Given the description of an element on the screen output the (x, y) to click on. 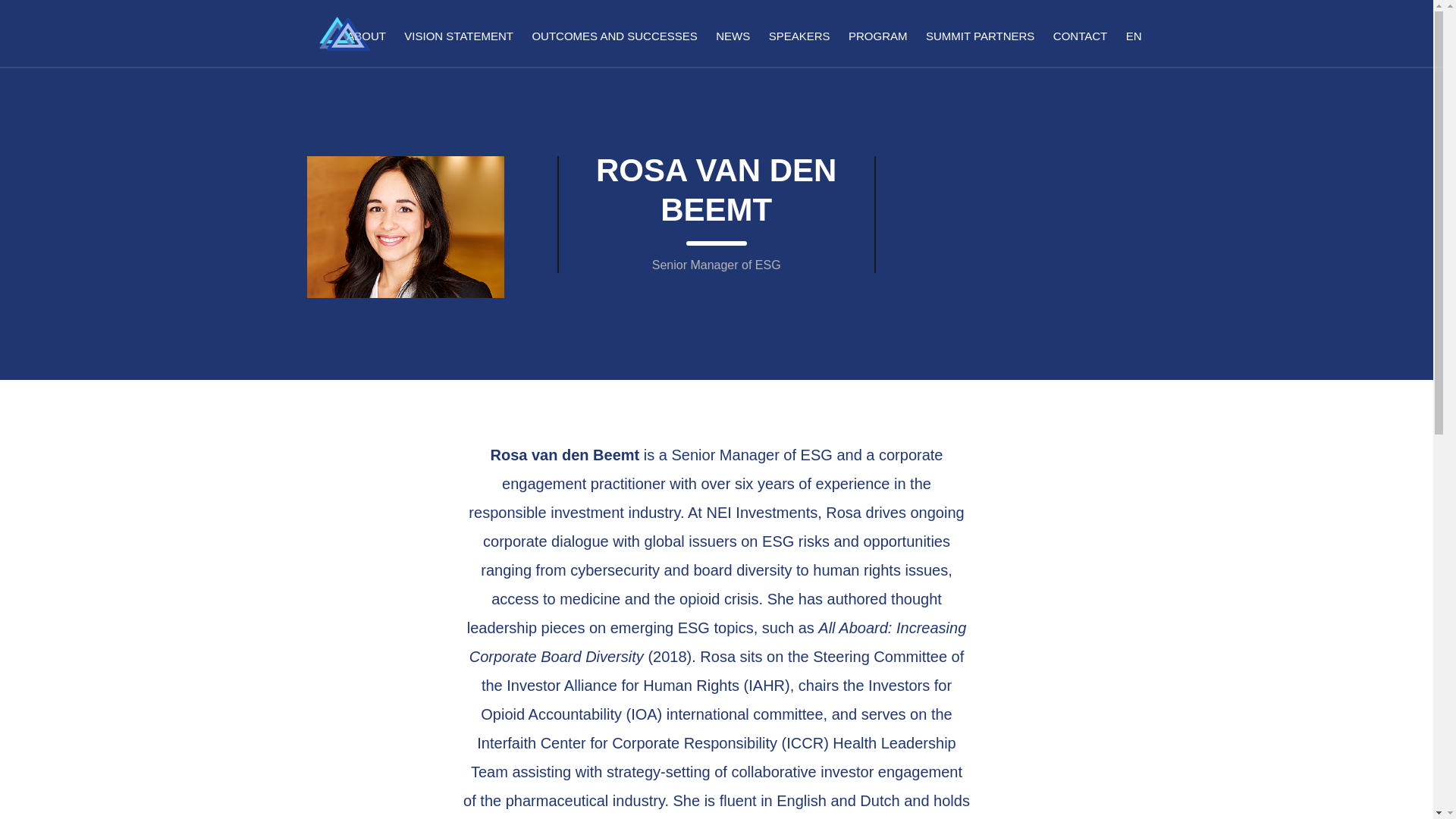
ABOUT (366, 35)
SPEAKERS (799, 35)
OUTCOMES AND SUCCESSES (614, 35)
SUMMIT PARTNERS (980, 35)
EN (1134, 35)
VISION STATEMENT (458, 35)
PROGRAM (878, 35)
CONTACT (1080, 35)
EN (1134, 35)
NEWS (732, 35)
